Given the description of an element on the screen output the (x, y) to click on. 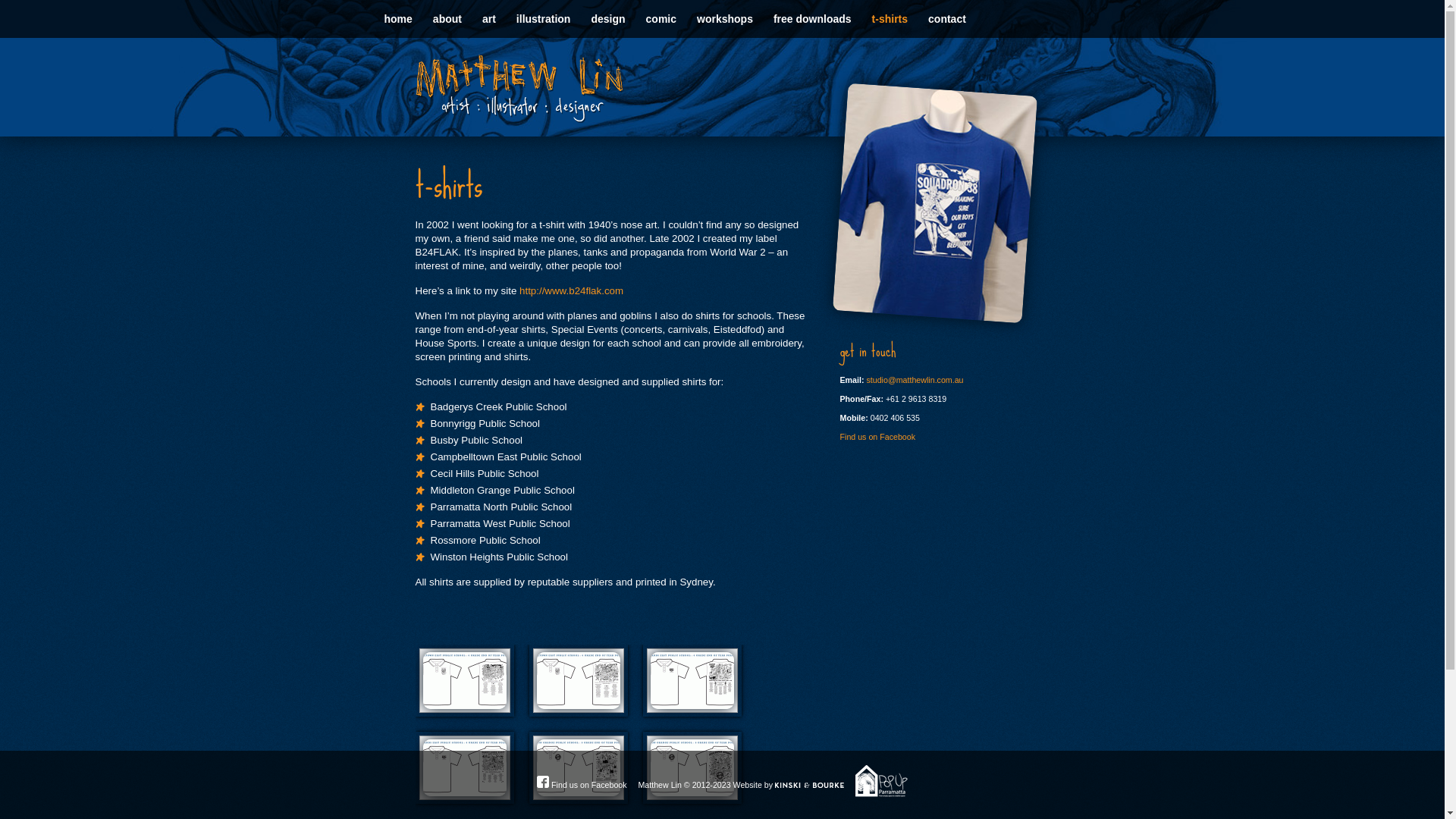
tshirt_16 Element type: hover (692, 680)
Find us on Facebook Element type: text (581, 784)
art Element type: text (488, 18)
contact Element type: text (946, 18)
design Element type: text (607, 18)
http://www.b24flak.com Element type: text (571, 290)
illustration Element type: text (542, 18)
tshirt_15 Element type: hover (578, 680)
workshops Element type: text (724, 18)
tshirt_14 Element type: hover (464, 680)
comic Element type: text (660, 18)
home Element type: text (397, 18)
studio@matthewlin.com.au Element type: text (914, 379)
tshirt_18 Element type: hover (578, 767)
t-shirts Element type: text (889, 18)
tshirt_19 Element type: hover (692, 767)
tshirt_17 Element type: hover (464, 767)
Find us on Facebook Element type: text (878, 436)
about Element type: text (446, 18)
free downloads Element type: text (811, 18)
